Given the description of an element on the screen output the (x, y) to click on. 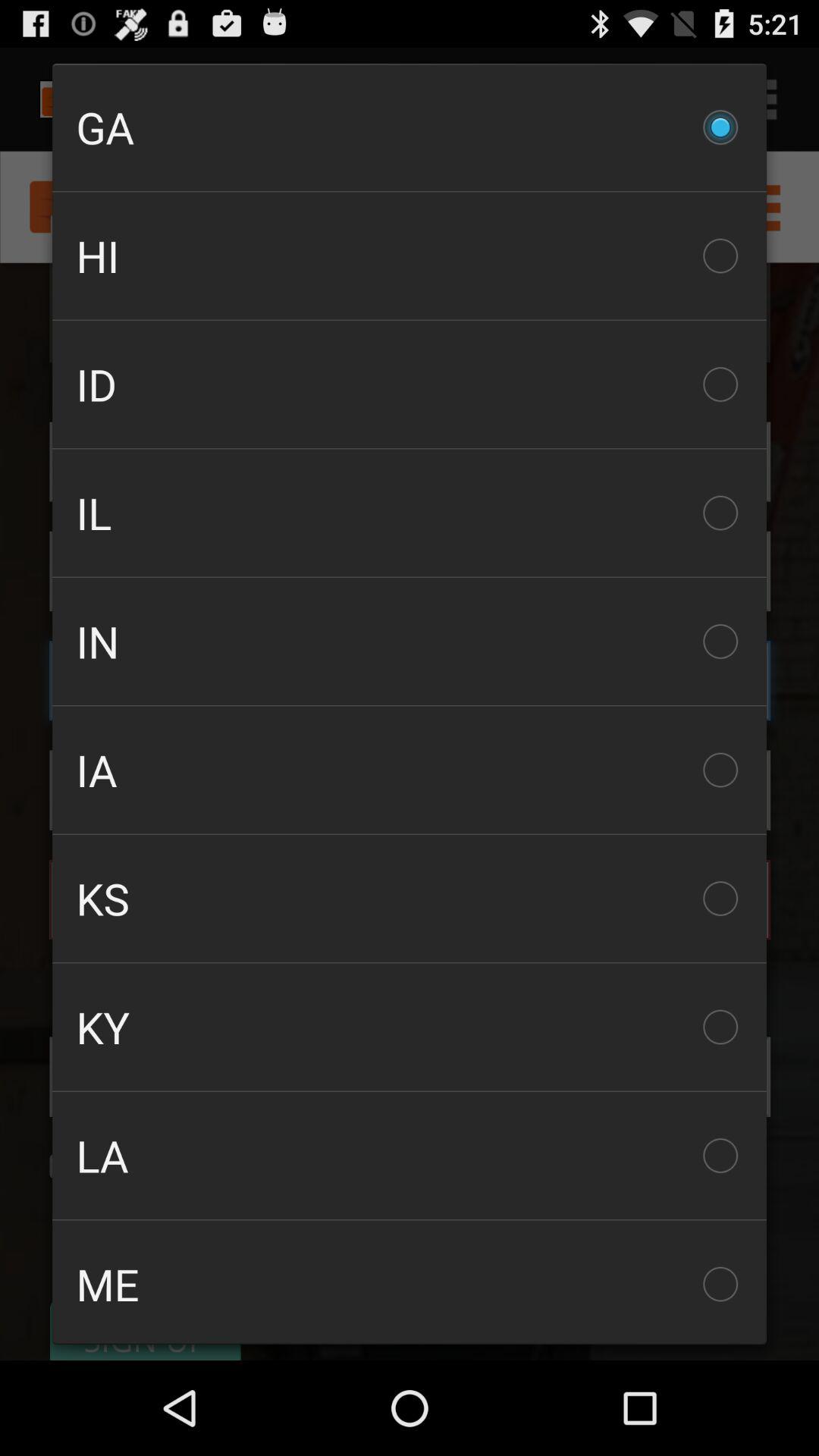
click icon above ks checkbox (409, 769)
